Given the description of an element on the screen output the (x, y) to click on. 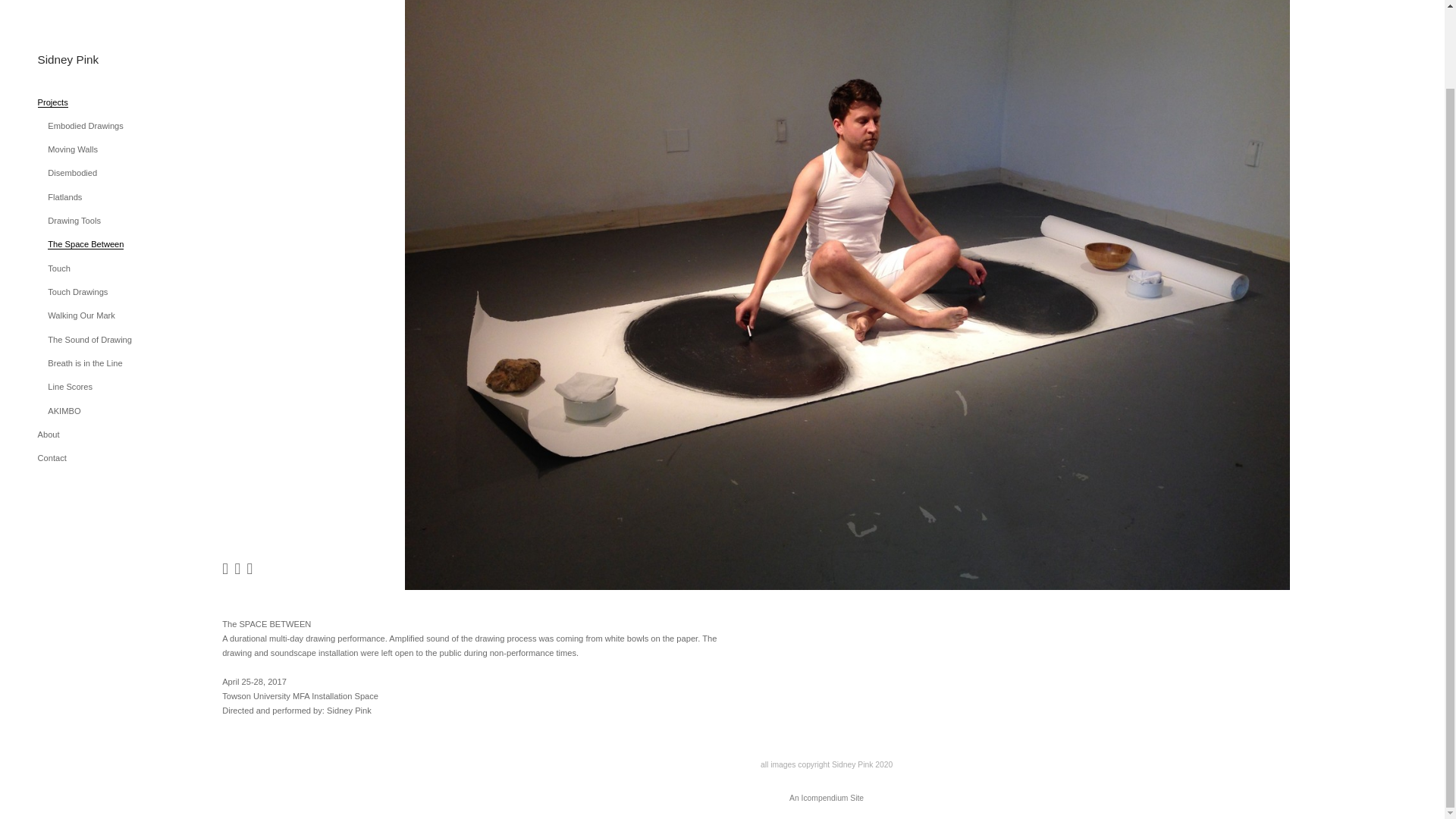
Embodied Drawings (85, 37)
Moving Walls (72, 61)
Drawing Tools (74, 132)
The Sound of Drawing (90, 251)
AKIMBO (64, 322)
Flatlands (64, 108)
Contact (51, 369)
Line Scores (70, 298)
Projects (52, 13)
Touch (58, 180)
